Given the description of an element on the screen output the (x, y) to click on. 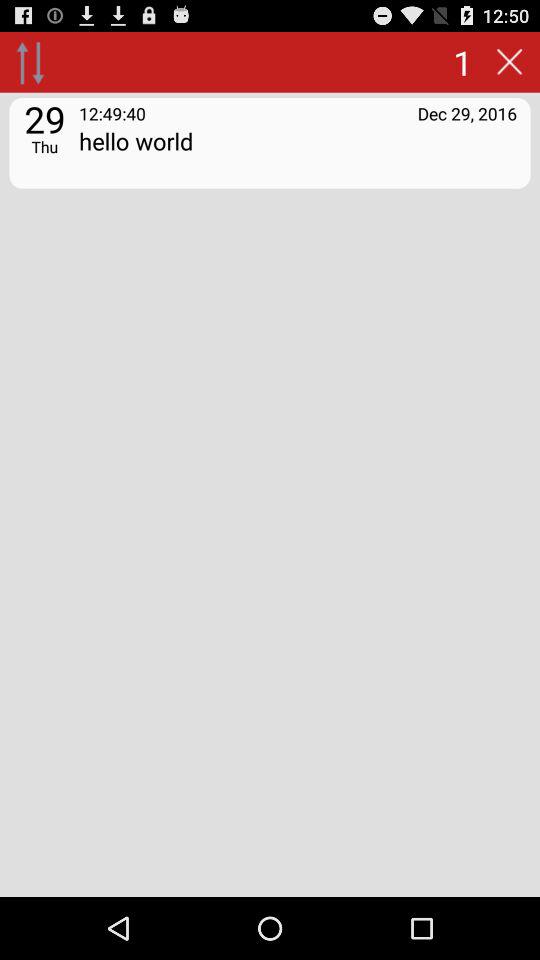
choose the app to the left of the dec 29, 2016 app (112, 112)
